Given the description of an element on the screen output the (x, y) to click on. 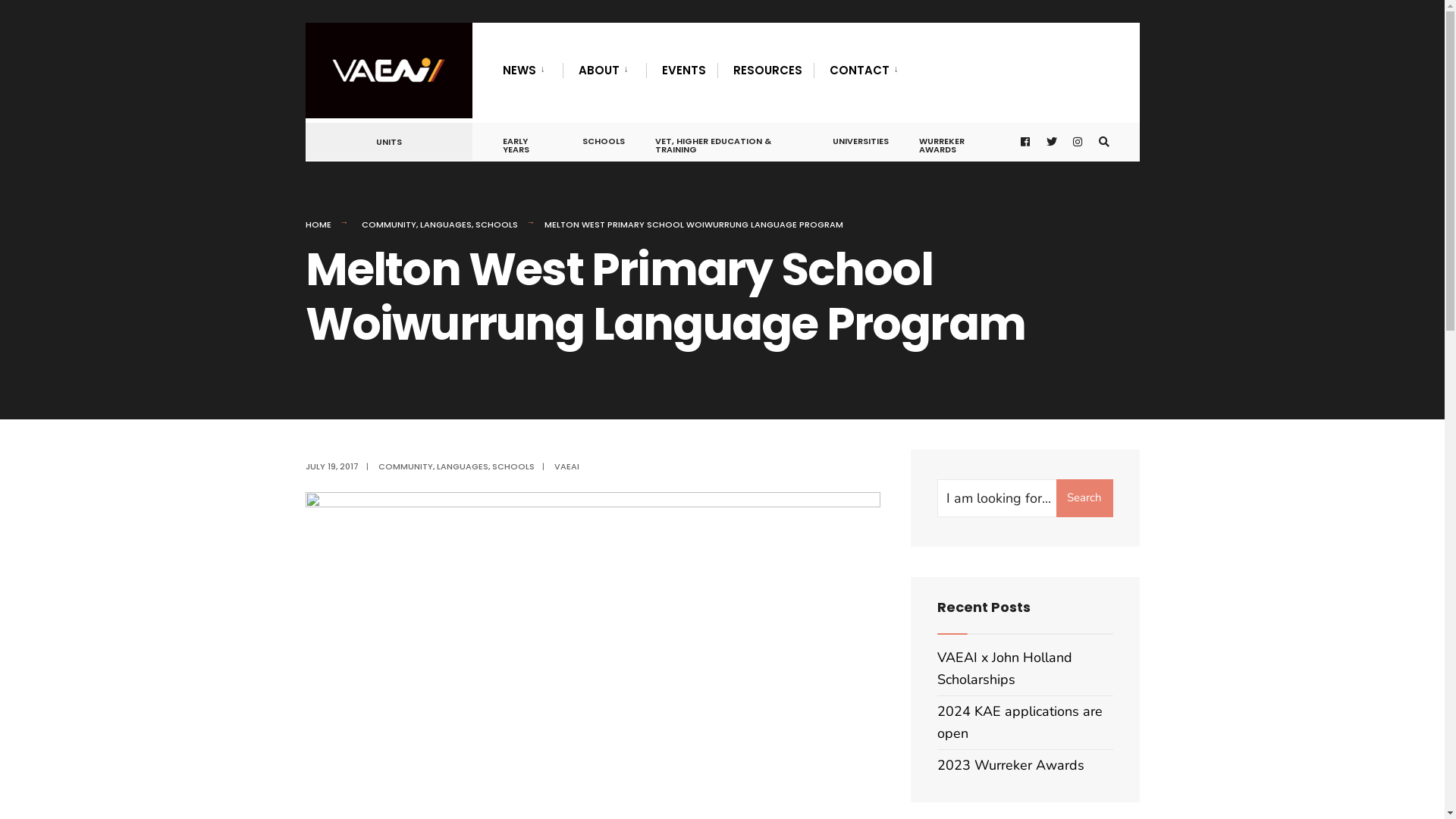
SCHOOLS Element type: text (603, 137)
NEWS Element type: text (526, 69)
VET, HIGHER EDUCATION & TRAINING Element type: text (728, 141)
CONTACT Element type: text (866, 69)
VAEAI Element type: text (565, 466)
COMMUNITY Element type: text (387, 224)
HOME Element type: text (317, 224)
ABOUT Element type: text (605, 69)
RESOURCES Element type: text (766, 69)
EARLY YEARS Element type: text (526, 141)
COMMUNITY Element type: text (404, 466)
EVENTS Element type: text (683, 69)
SCHOOLS Element type: text (512, 466)
2023 Wurreker Awards Element type: text (1010, 765)
WURREKER AWARDS Element type: text (958, 141)
LANGUAGES Element type: text (445, 224)
VAEAI x John Holland Scholarships Element type: text (1004, 668)
2024 KAE applications are open Element type: text (1019, 722)
Search Element type: text (1083, 498)
LANGUAGES Element type: text (462, 466)
SCHOOLS Element type: text (495, 224)
UNIVERSITIES Element type: text (860, 137)
Skip to content Element type: text (312, 26)
